Given the description of an element on the screen output the (x, y) to click on. 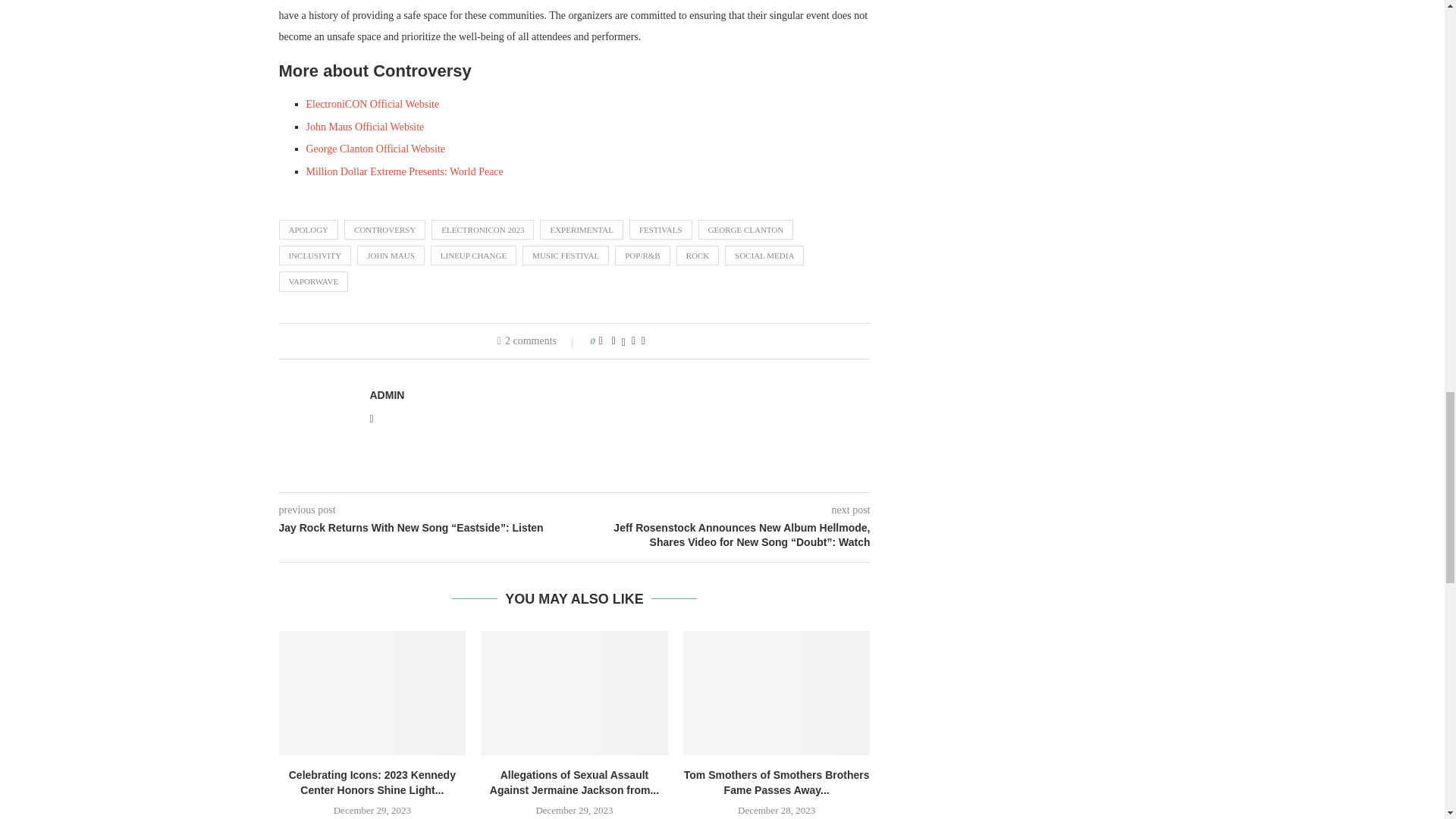
Million Dollar Extreme Presents: World Peace (404, 171)
CONTROVERSY (384, 229)
John Maus Official Website (365, 126)
Author admin (386, 395)
ElectroniCON Official Website (372, 103)
ELECTRONICON 2023 (482, 229)
Tom Smothers of Smothers Brothers Fame Passes Away at 86 (776, 692)
JOHN MAUS (390, 255)
EXPERIMENTAL (581, 229)
